Given the description of an element on the screen output the (x, y) to click on. 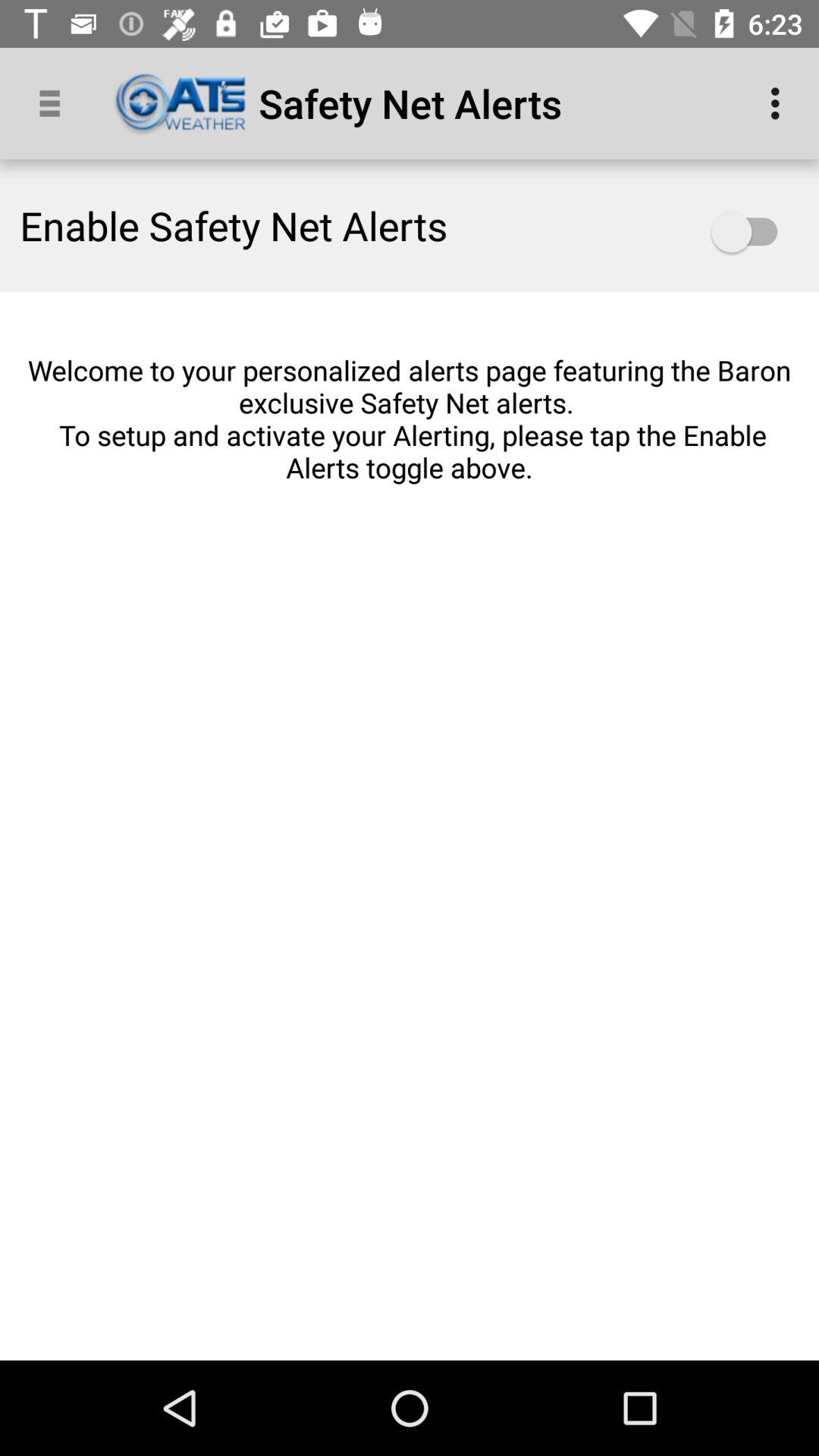
toggle safety net alerts (751, 232)
